Given the description of an element on the screen output the (x, y) to click on. 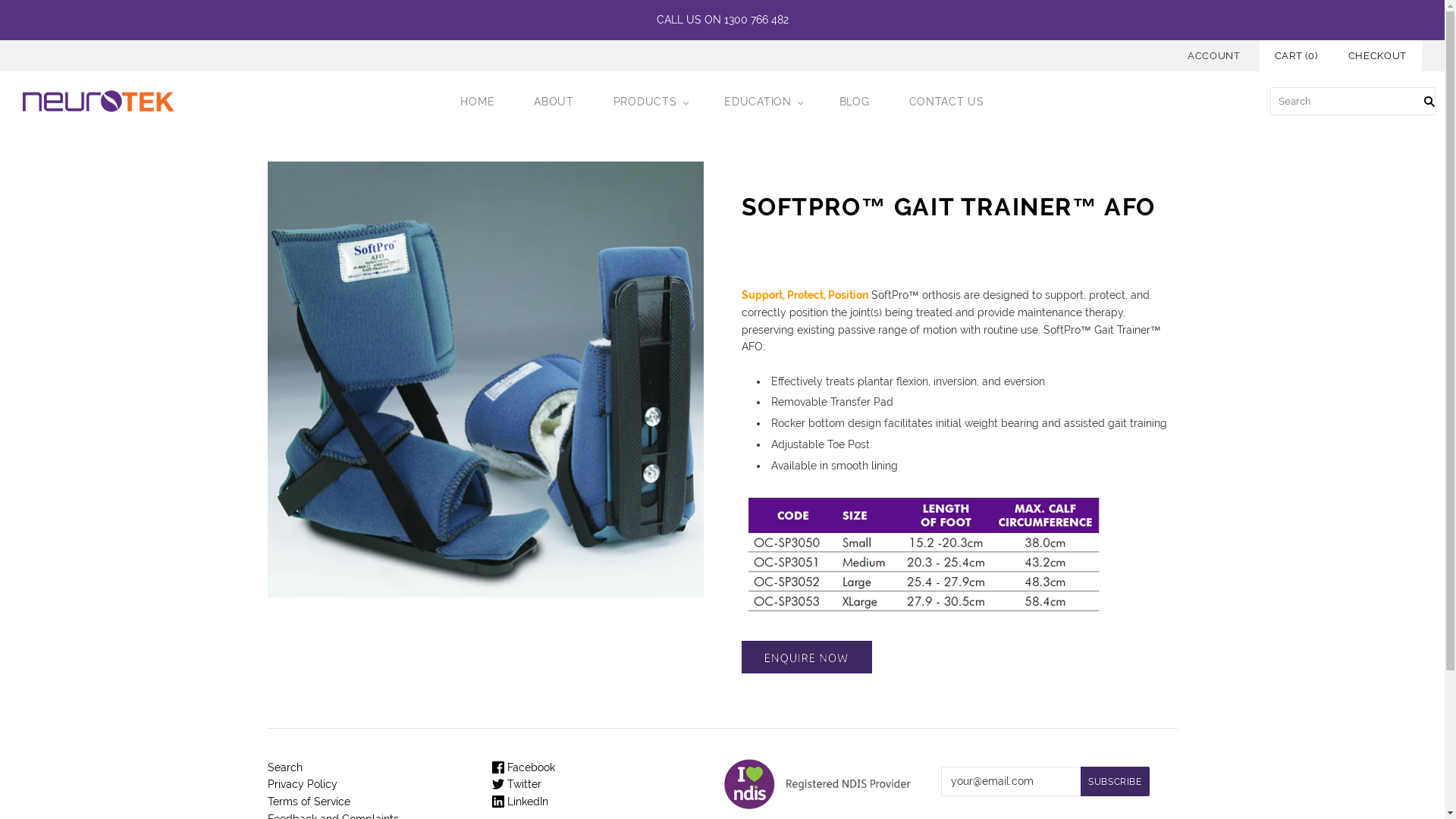
Twitter Element type: text (516, 784)
ACCOUNT Element type: text (1213, 55)
PRODUCTS Element type: text (649, 101)
BLOG Element type: text (854, 101)
CONTACT US Element type: text (946, 101)
LinkedIn Element type: text (520, 801)
CALL US ON 1300 766 482 Element type: text (722, 20)
EDUCATION Element type: text (761, 101)
CART (0) Element type: text (1295, 55)
Facebook Element type: text (523, 767)
Terms of Service Element type: text (307, 801)
CHECKOUT Element type: text (1377, 55)
ABOUT Element type: text (553, 101)
Subscribe Element type: text (1114, 781)
Search Element type: text (283, 767)
HOME Element type: text (477, 101)
Privacy Policy Element type: text (301, 784)
